Given the description of an element on the screen output the (x, y) to click on. 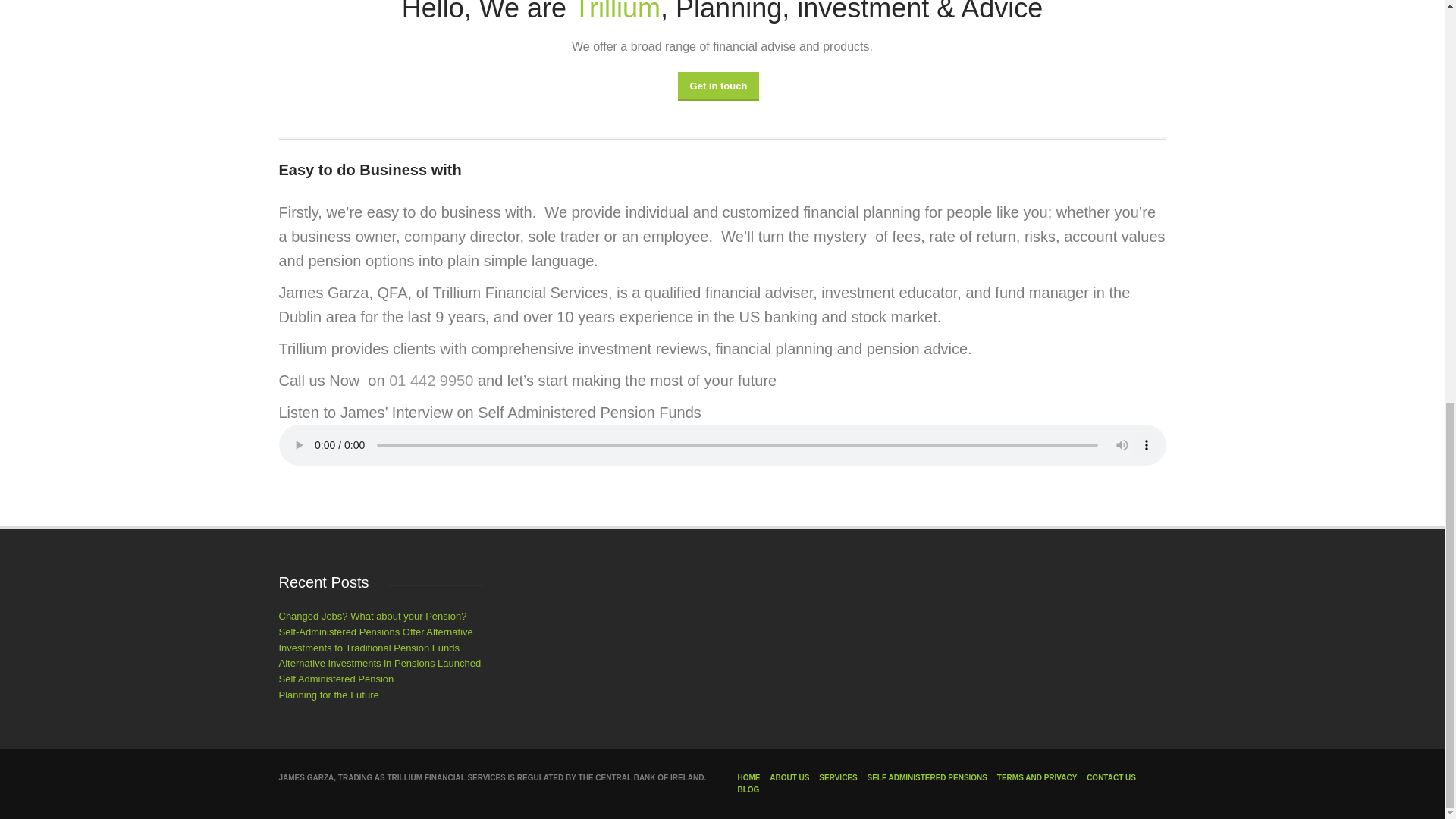
01 442 9950 (432, 380)
Get in touch (719, 86)
Trillium (617, 11)
HOME (748, 777)
Changed Jobs? What about your Pension? (373, 615)
Self Administered Pension (336, 678)
Planning for the Future (328, 695)
Cleanum Premium Corporate HTML (617, 11)
Alternative Investments in Pensions Launched (380, 663)
